Given the description of an element on the screen output the (x, y) to click on. 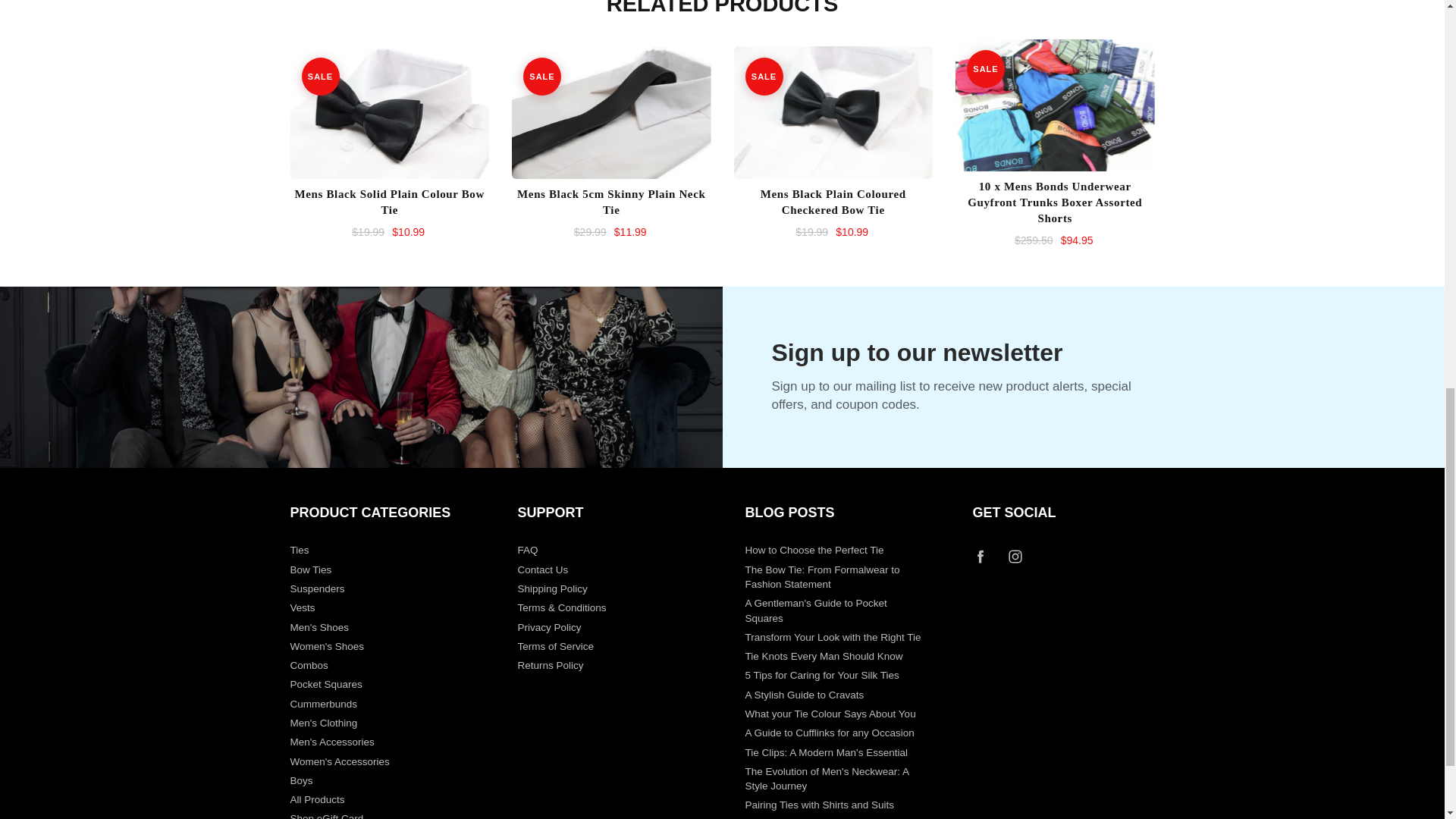
Instagram (1014, 555)
Facebook (981, 555)
